Given the description of an element on the screen output the (x, y) to click on. 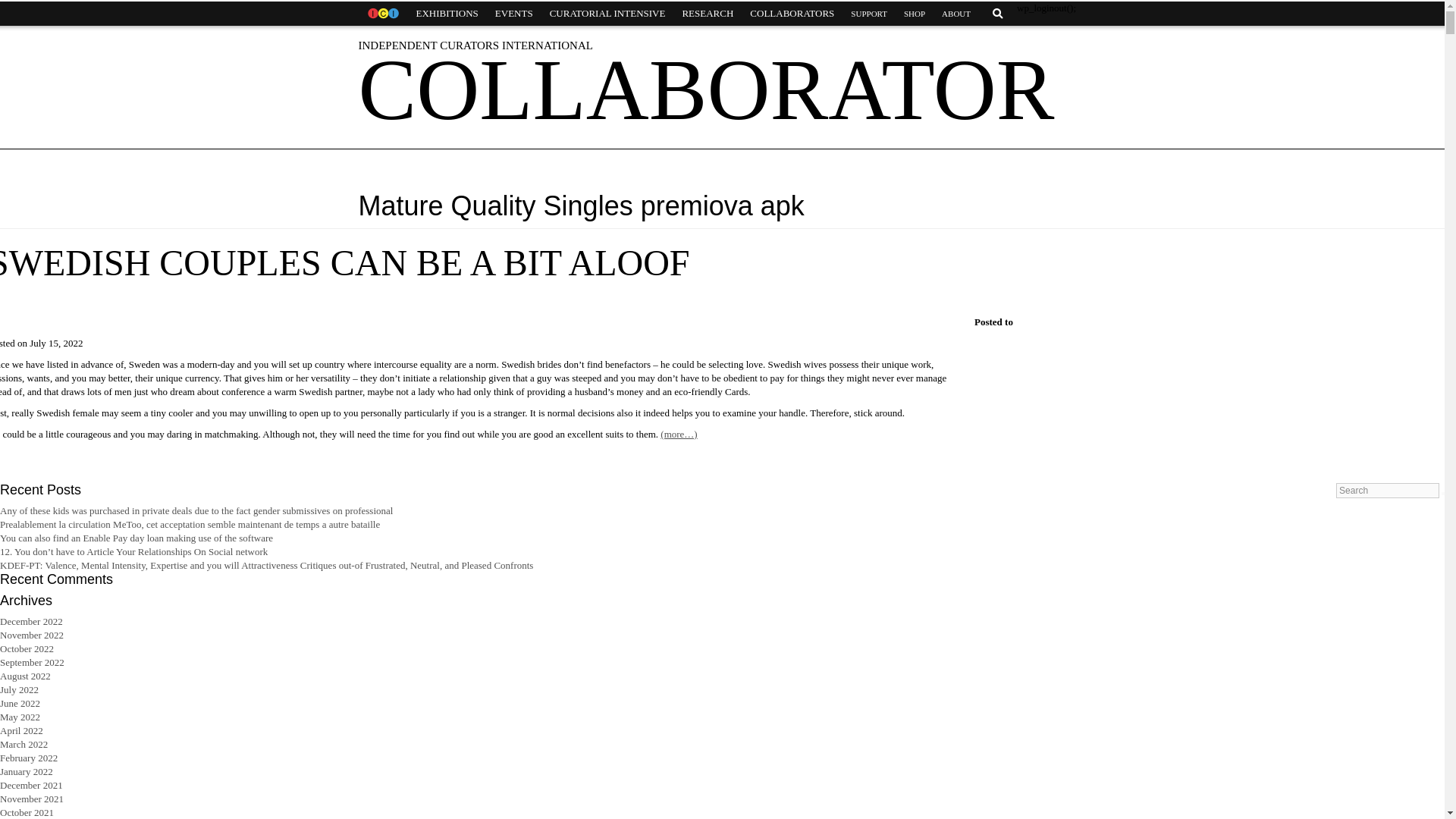
CURATORIAL INTENSIVE (607, 13)
EVENTS (513, 13)
COLLABORATORS (792, 13)
EXHIBITIONS (446, 13)
HOME (382, 13)
RESEARCH (706, 13)
